Given the description of an element on the screen output the (x, y) to click on. 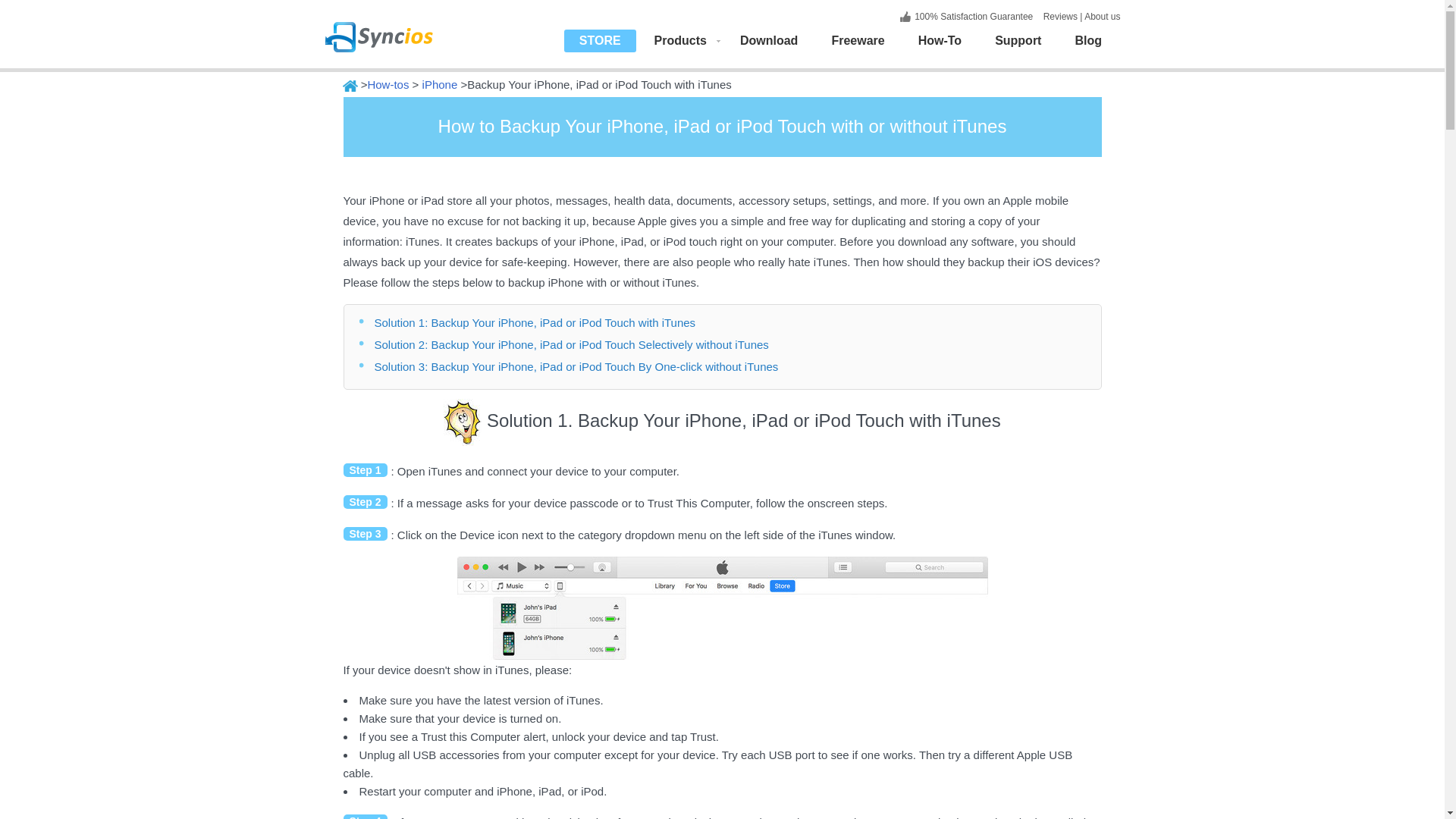
Products (680, 39)
How-To (939, 39)
Download (768, 39)
Reviews (1059, 16)
About us (1101, 16)
Freeware (857, 39)
Blog (1087, 39)
STORE (600, 39)
Support (1018, 39)
Syncios (396, 26)
